Given the description of an element on the screen output the (x, y) to click on. 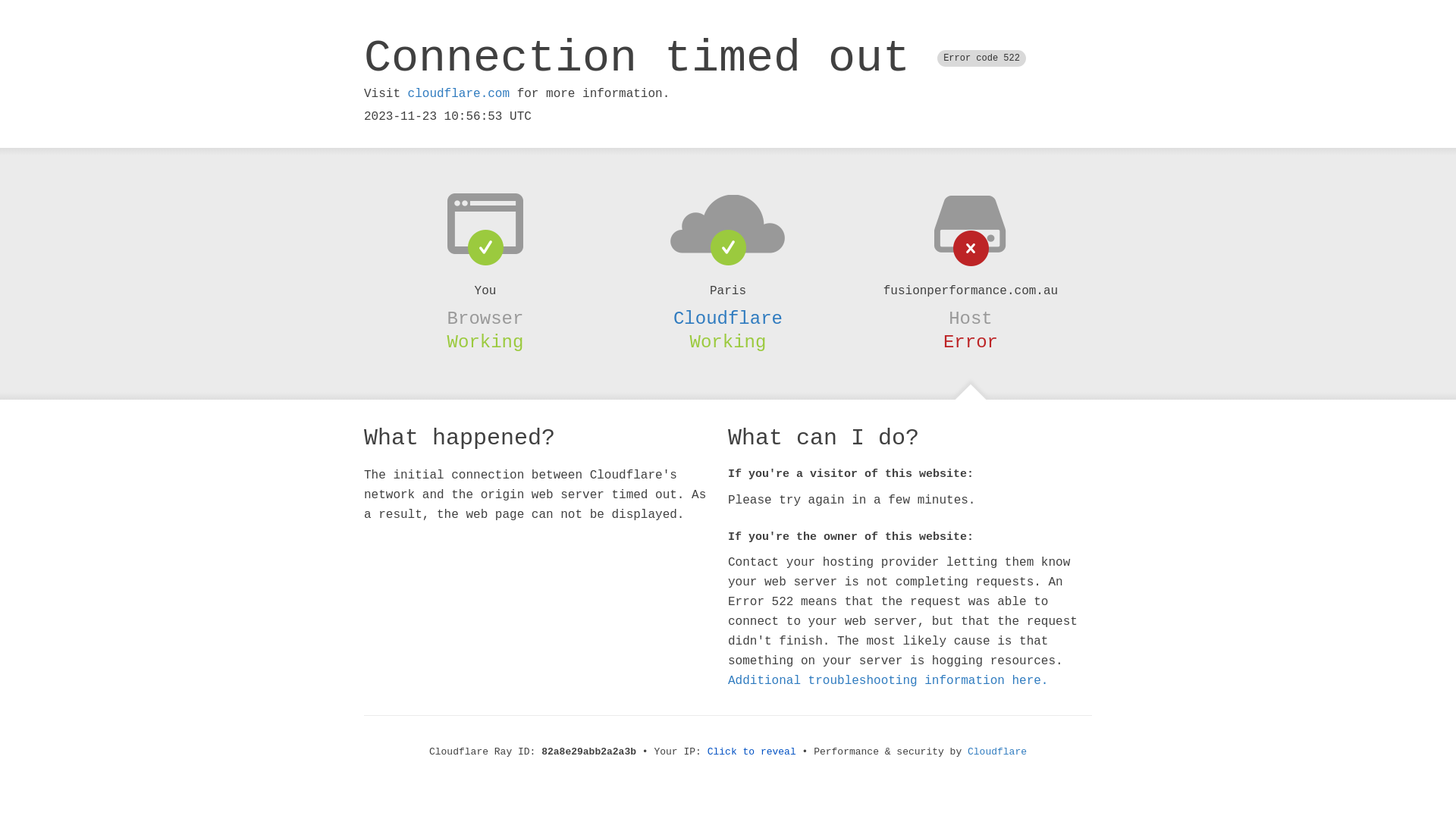
Additional troubleshooting information here. Element type: text (888, 680)
Cloudflare Element type: text (996, 751)
Click to reveal Element type: text (751, 751)
Cloudflare Element type: text (727, 318)
cloudflare.com Element type: text (458, 93)
